Given the description of an element on the screen output the (x, y) to click on. 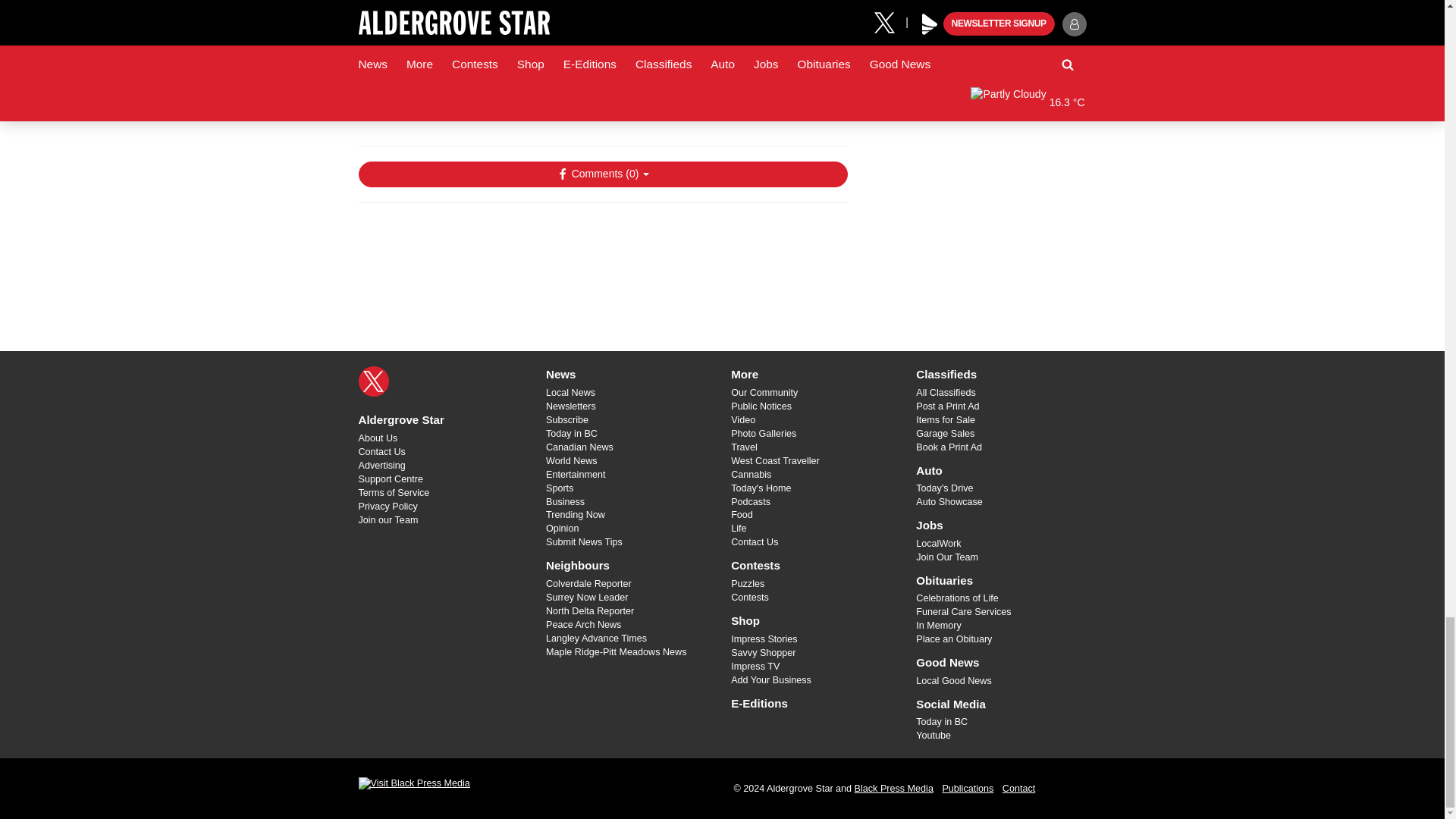
X (373, 381)
Show Comments (602, 174)
